Given the description of an element on the screen output the (x, y) to click on. 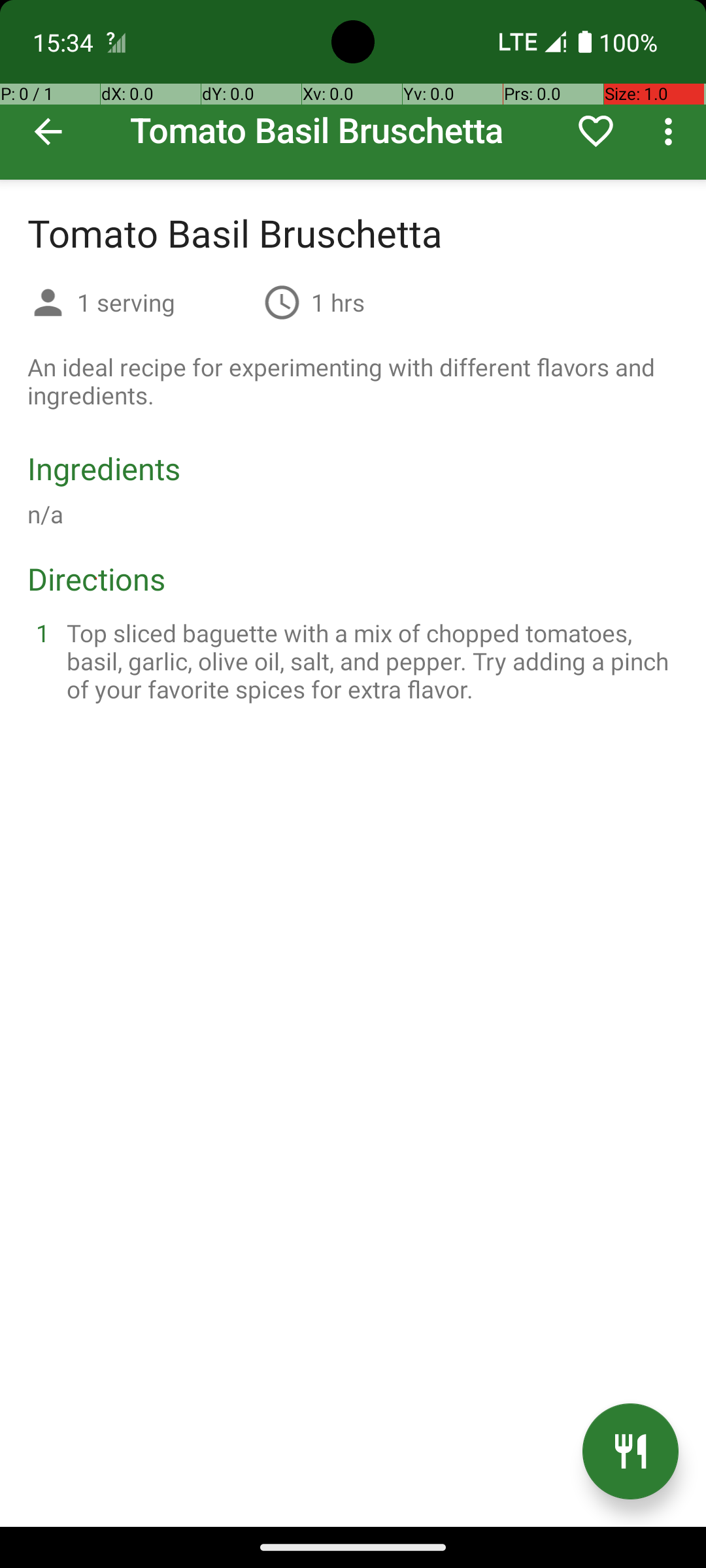
Tomato Basil Bruschetta Element type: android.widget.FrameLayout (353, 89)
Top sliced baguette with a mix of chopped tomatoes, basil, garlic, olive oil, salt, and pepper. Try adding a pinch of your favorite spices for extra flavor. Element type: android.widget.TextView (368, 660)
